Given the description of an element on the screen output the (x, y) to click on. 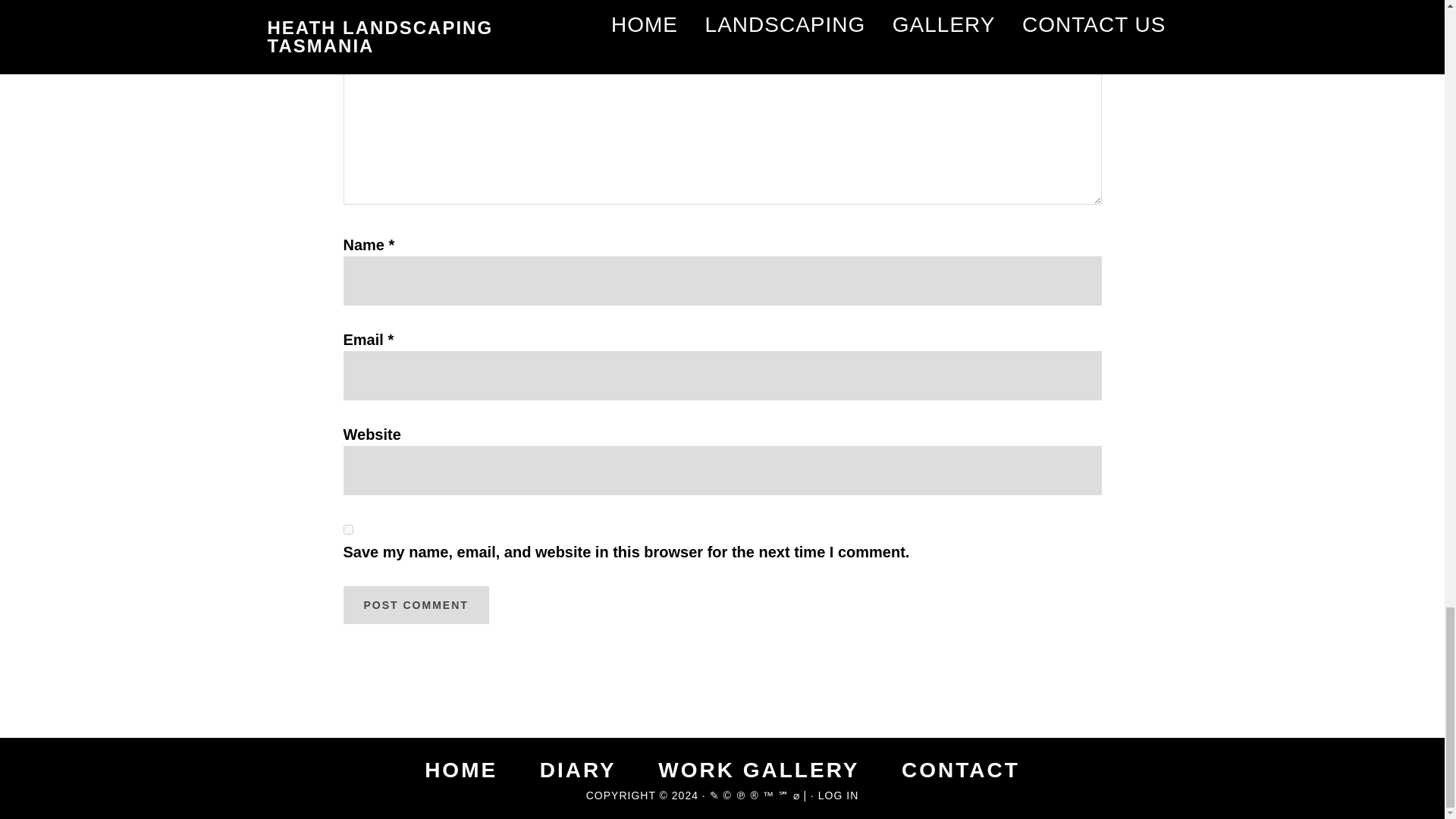
yes (347, 529)
HOME (461, 769)
Post Comment (414, 605)
Post Comment (414, 605)
